Given the description of an element on the screen output the (x, y) to click on. 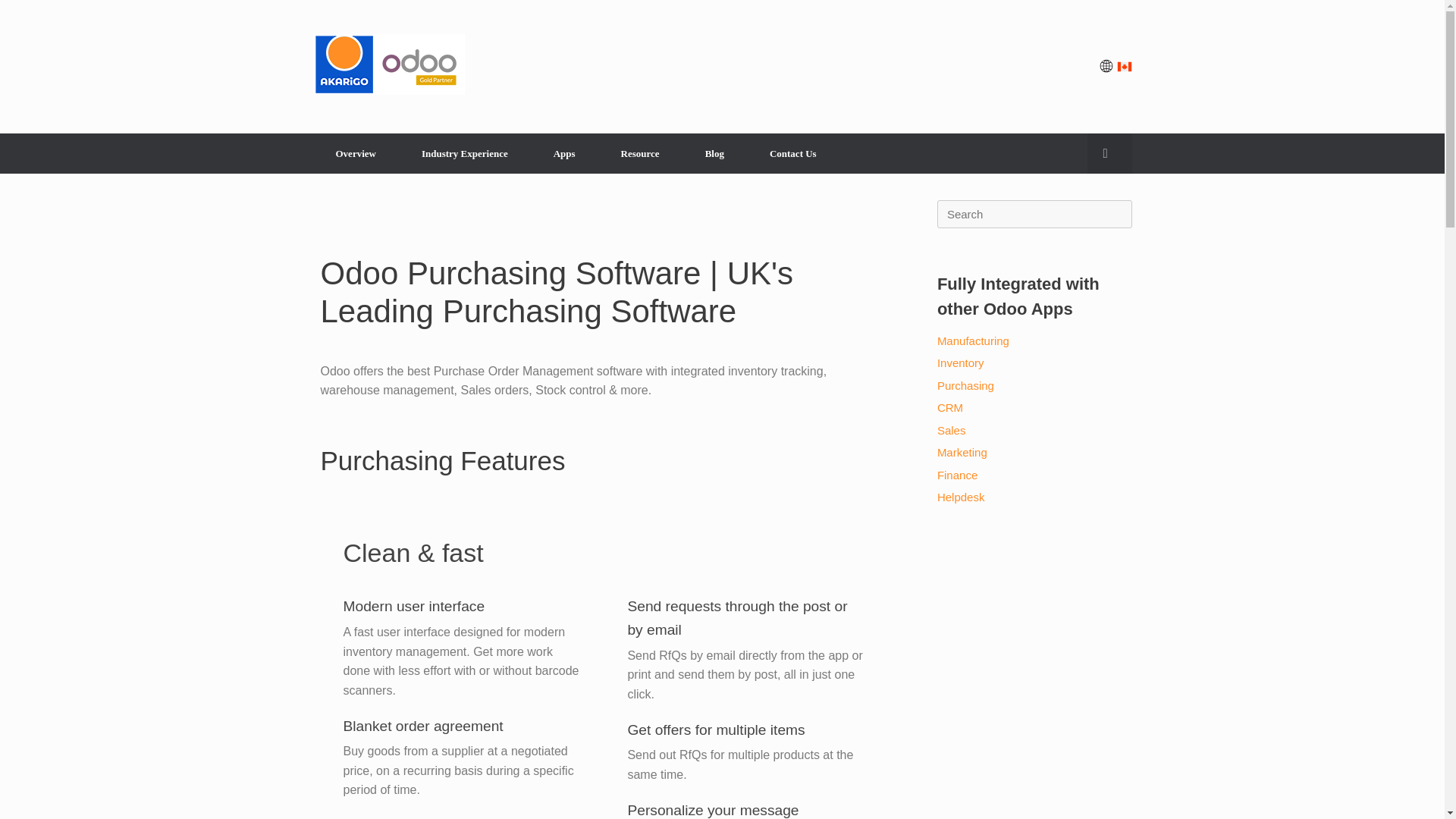
Finance (956, 474)
Sales (951, 429)
Overview (355, 153)
Contact Us (793, 153)
Industry Experience (464, 153)
Inventory (960, 362)
Marketing (962, 451)
Blog (714, 153)
Manufacturing (973, 339)
Resource (640, 153)
Purchasing (965, 385)
Apps (564, 153)
CRM (949, 407)
Helpdesk (961, 496)
Visit Akarigo Canada (926, 66)
